Given the description of an element on the screen output the (x, y) to click on. 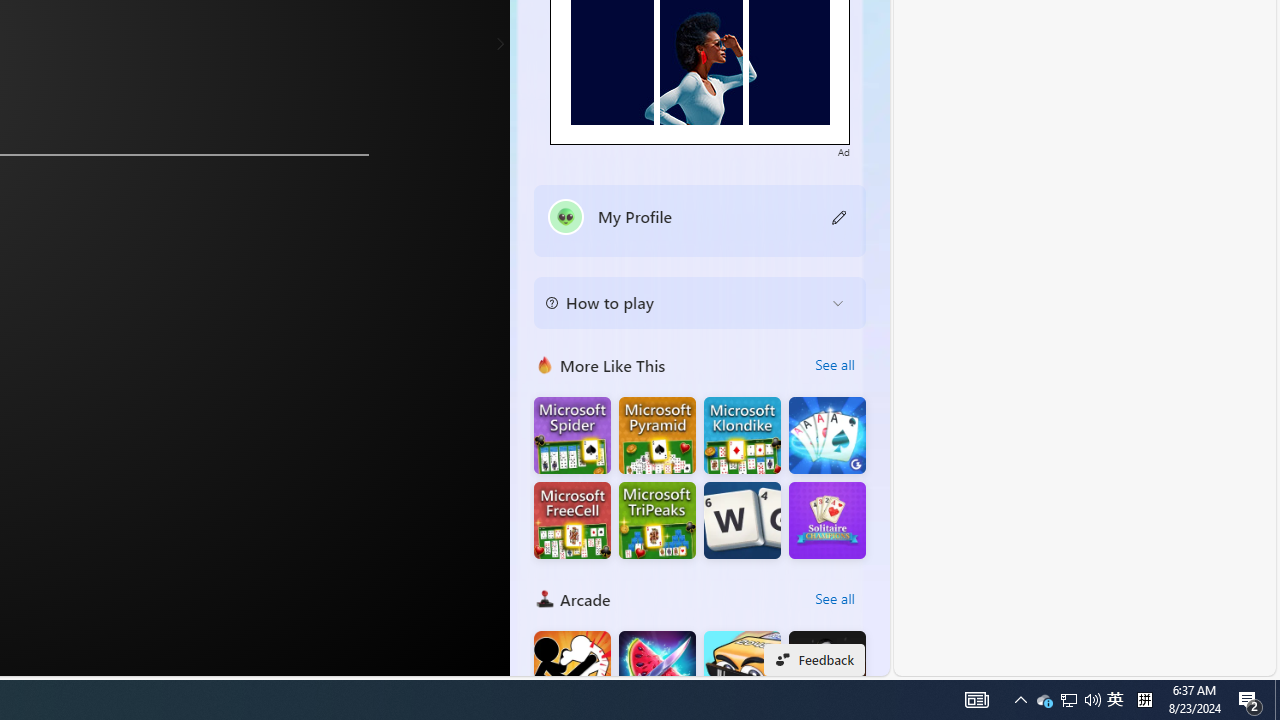
Hunter Hitman (827, 669)
See all (834, 598)
Cubes2048 (742, 669)
Class: button edit-icon (839, 216)
Microsoft Solitaire (742, 435)
How to play (683, 302)
More Like This (544, 364)
Solitaire Gold (827, 435)
Solitaire Champions (827, 520)
""'s avatar (565, 216)
Microsoft Ultimate Word Games (742, 520)
Fruit Chopper (657, 669)
Microsoft TriPeaks Solitaire (657, 520)
